Given the description of an element on the screen output the (x, y) to click on. 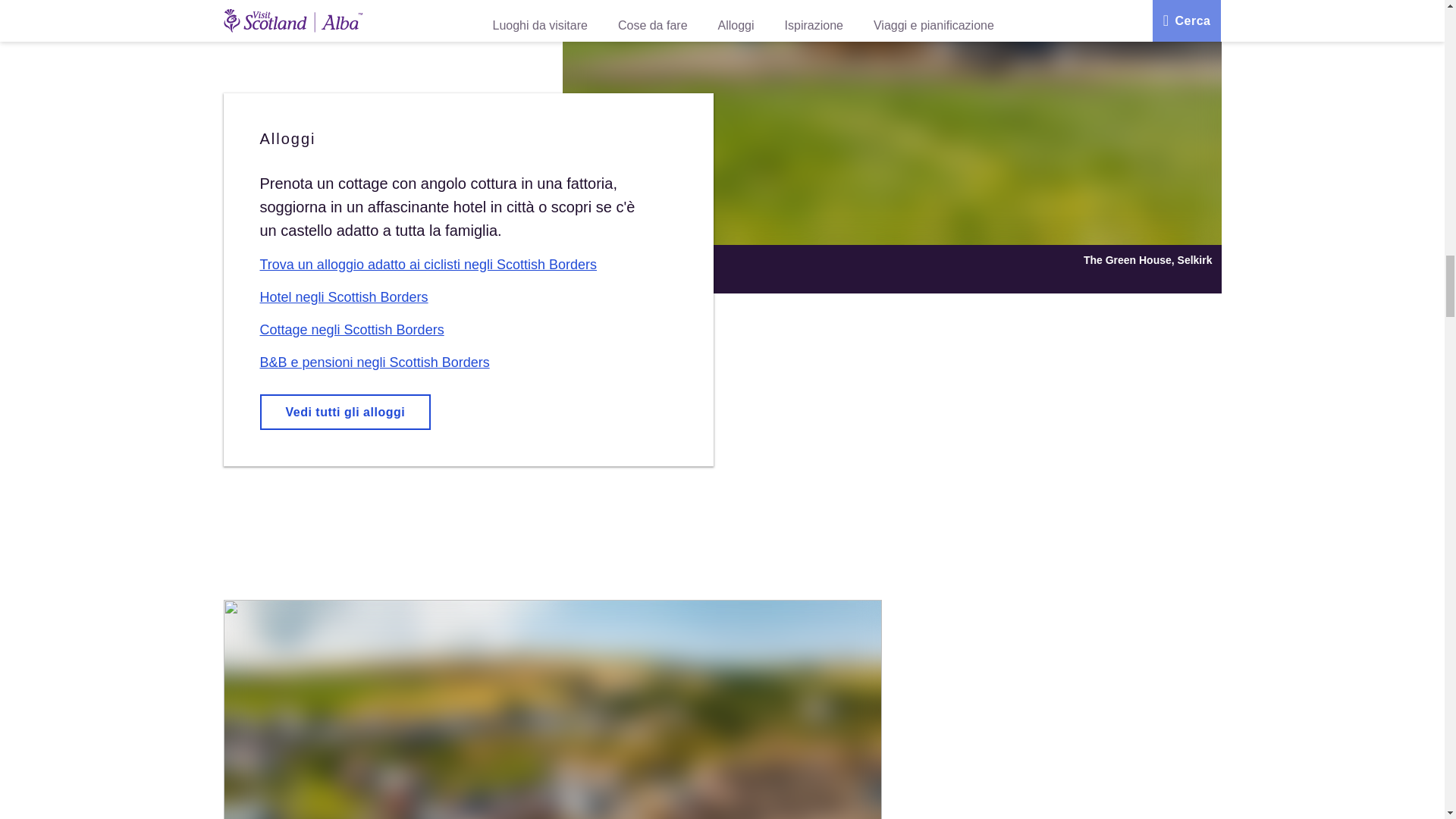
Trova un alloggio adatto ai ciclisti negli Scottish Borders (427, 264)
Hotel negli Scottish Borders (343, 296)
Cottage negli Scottish Borders (351, 329)
Vedi tutti gli alloggi (344, 411)
